Given the description of an element on the screen output the (x, y) to click on. 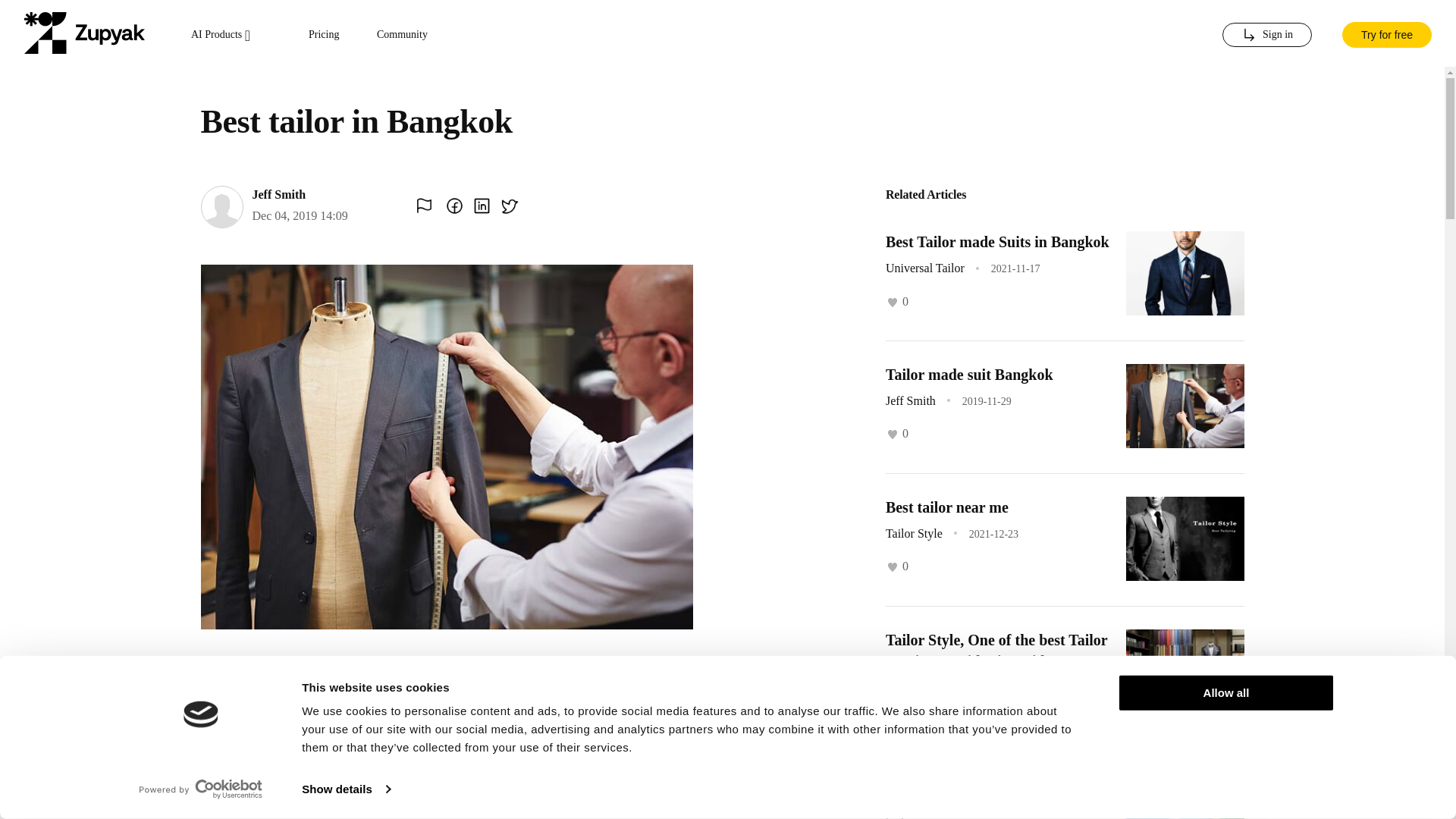
Best Tailor made Suits in Bangkok (997, 241)
Show details (345, 789)
Tailor made suit Bangkok (968, 374)
Best tailor near me (947, 506)
